Given the description of an element on the screen output the (x, y) to click on. 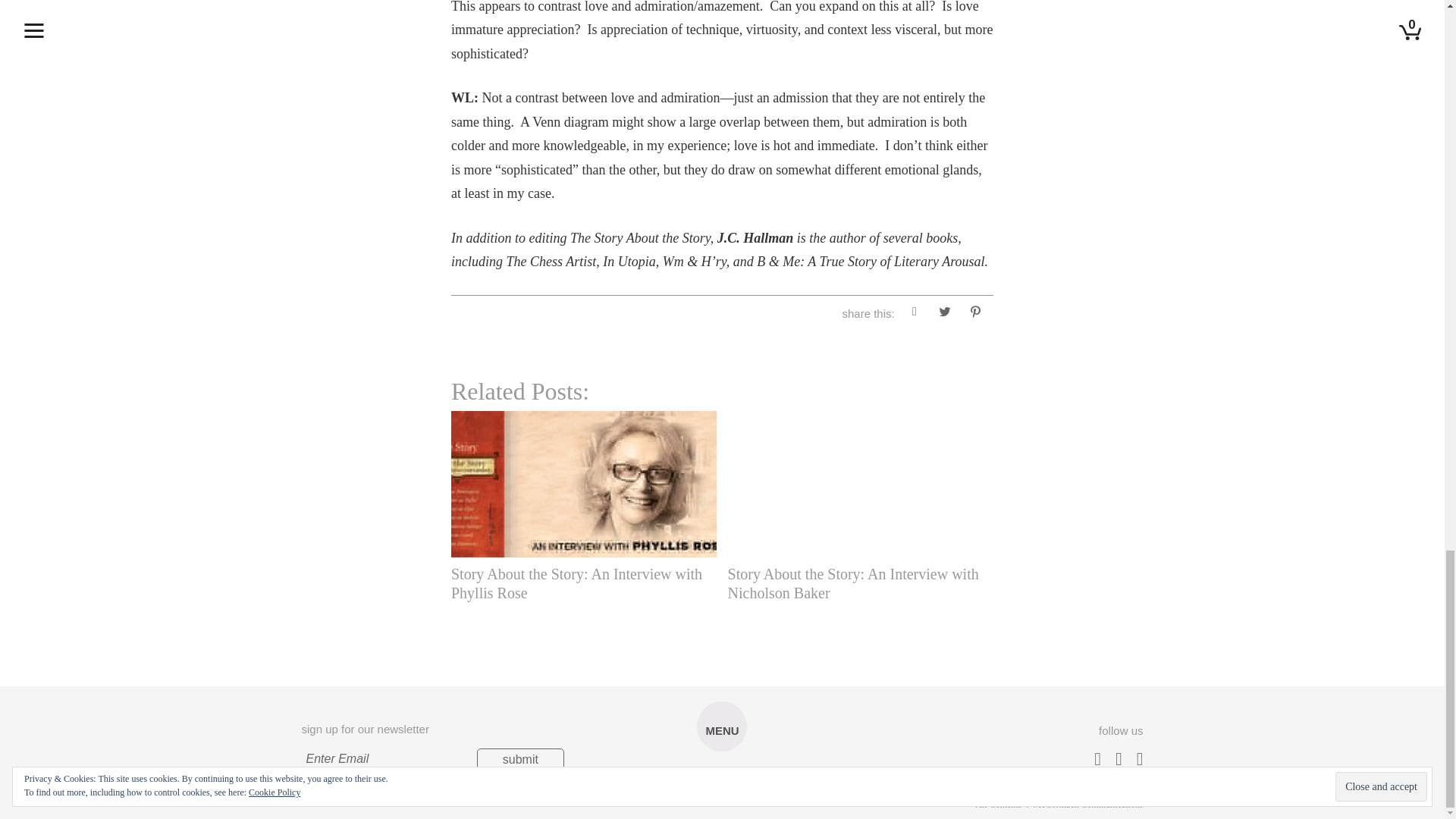
Click to share on Pinterest (974, 313)
Click to share on Twitter (944, 313)
Click to share on Facebook (914, 313)
Submit (520, 759)
Created with Sketch. (721, 789)
